Given the description of an element on the screen output the (x, y) to click on. 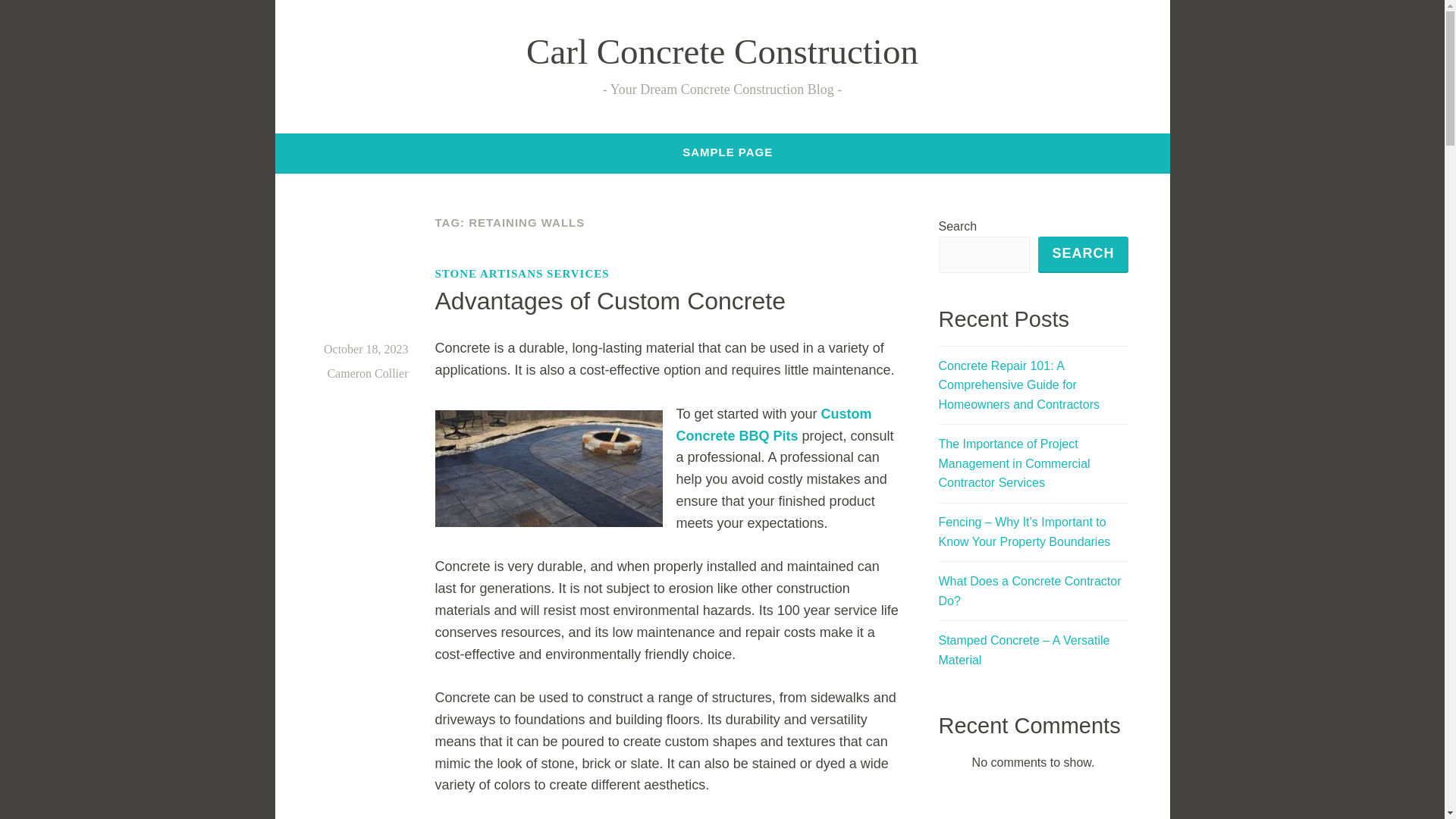
STONE ARTISANS SERVICES (522, 273)
Cameron Collier (366, 373)
Carl Concrete Construction (721, 51)
SAMPLE PAGE (727, 152)
SEARCH (1082, 254)
What Does a Concrete Contractor Do? (1030, 590)
Custom Concrete BBQ Pits (774, 424)
October 18, 2023 (366, 349)
Advantages of Custom Concrete (610, 300)
